Given the description of an element on the screen output the (x, y) to click on. 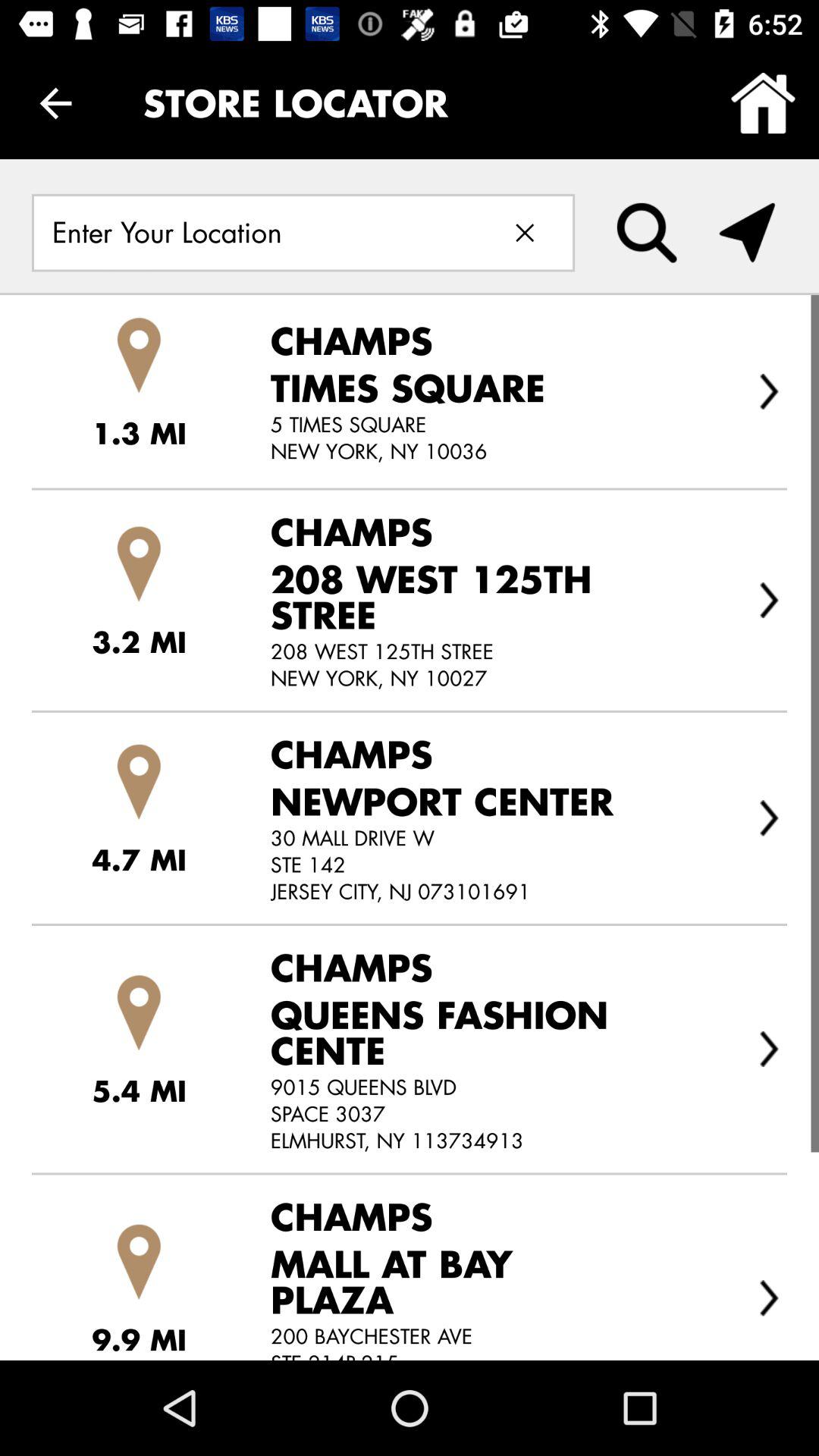
choose icon next to the store locator icon (763, 103)
